Given the description of an element on the screen output the (x, y) to click on. 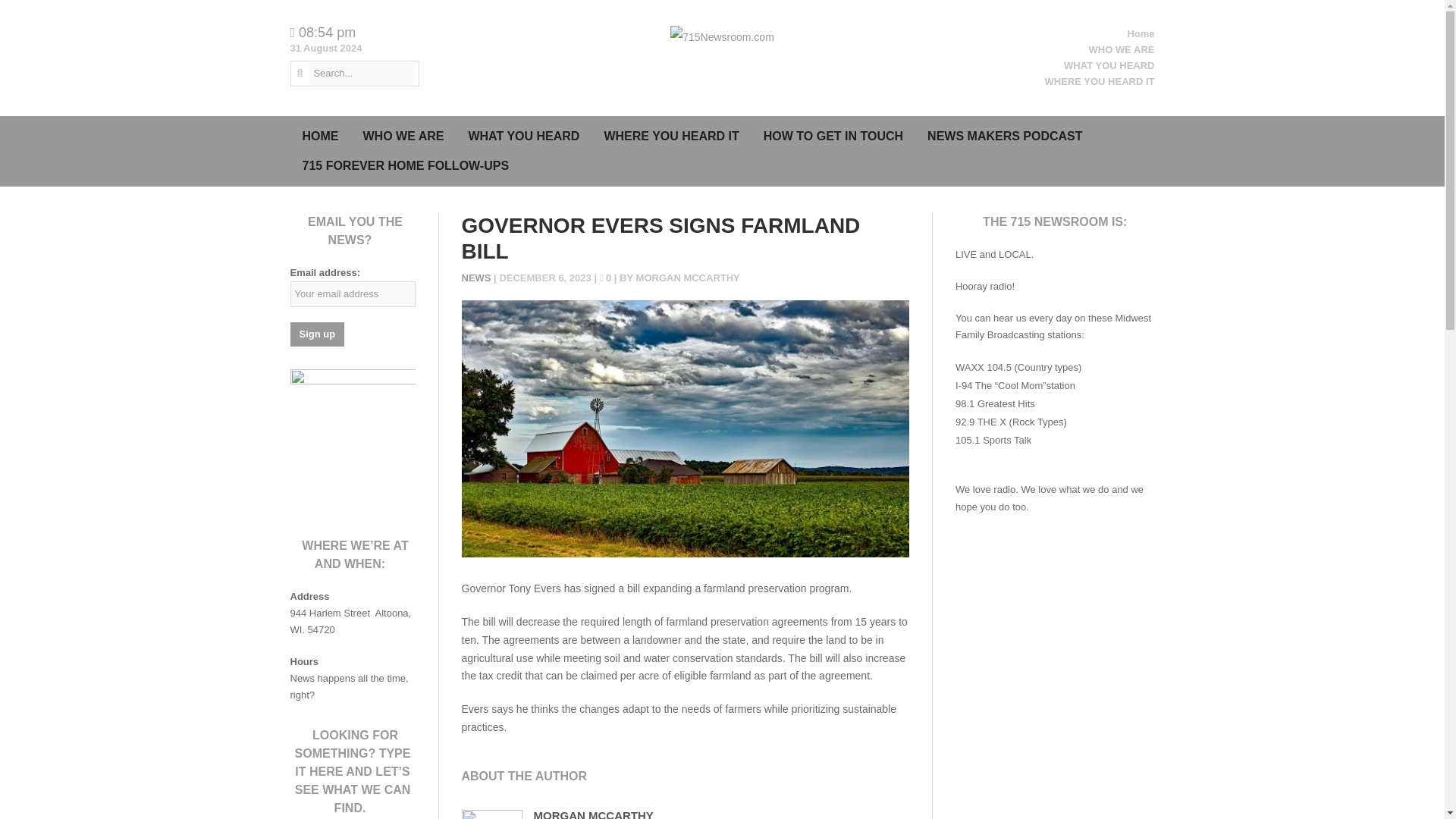
WHO WE ARE (402, 136)
MORGAN MCCARTHY (687, 277)
WHAT YOU HEARD (523, 136)
715 FOREVER HOME FOLLOW-UPS (405, 166)
DECEMBER 6, 2023 (546, 277)
WHAT YOU HEARD (1109, 65)
HOME (319, 136)
WHO WE ARE (1121, 49)
HOW TO GET IN TOUCH (833, 136)
0 (606, 277)
